Given the description of an element on the screen output the (x, y) to click on. 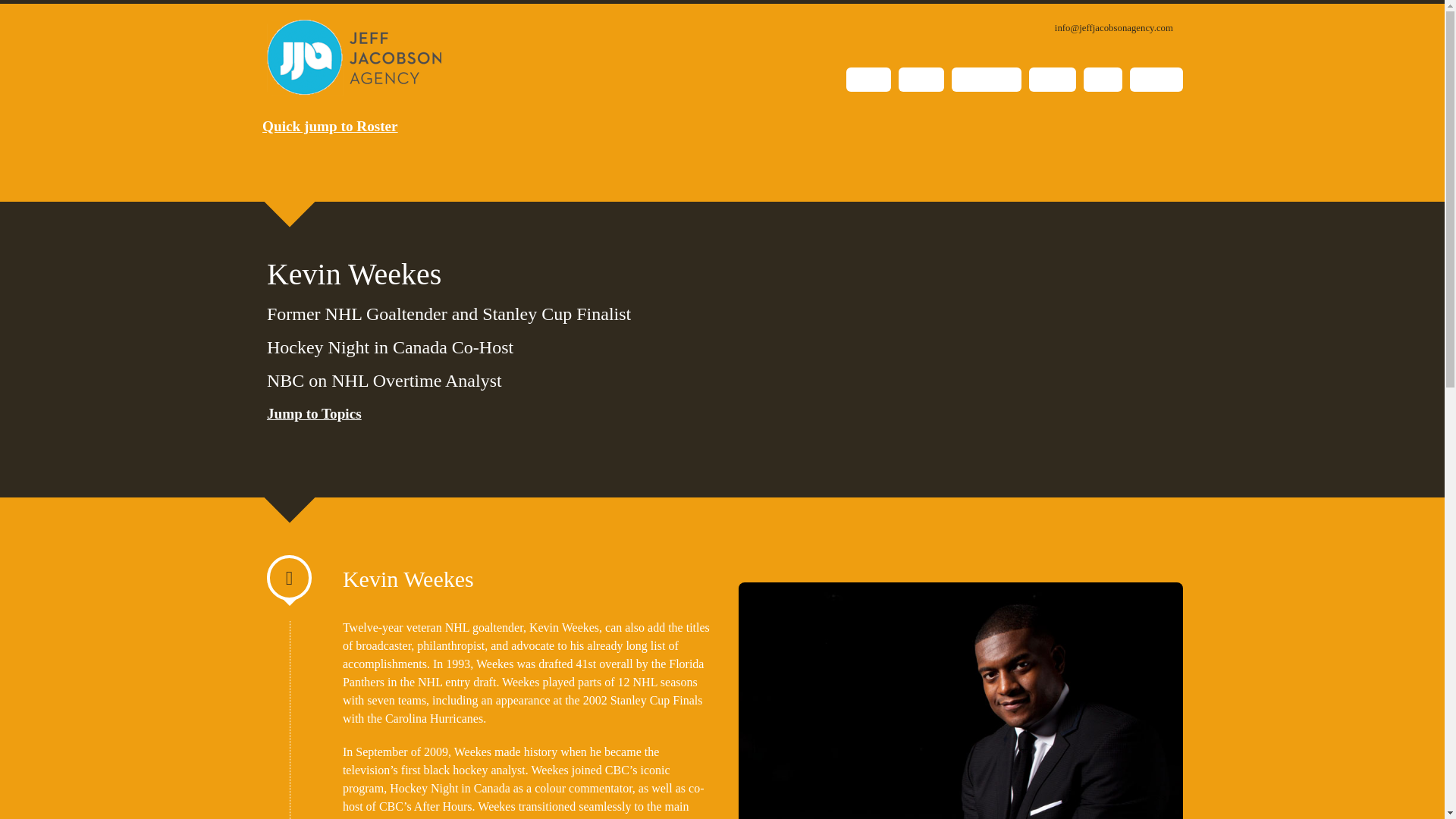
Influencers (987, 79)
Contact (1155, 79)
Jeff Jacobson Agency (353, 57)
Jump to Topics (313, 413)
Roster (1052, 79)
About (920, 79)
Blog (1102, 79)
Quick jump to Roster (329, 125)
Home (868, 79)
